Given the description of an element on the screen output the (x, y) to click on. 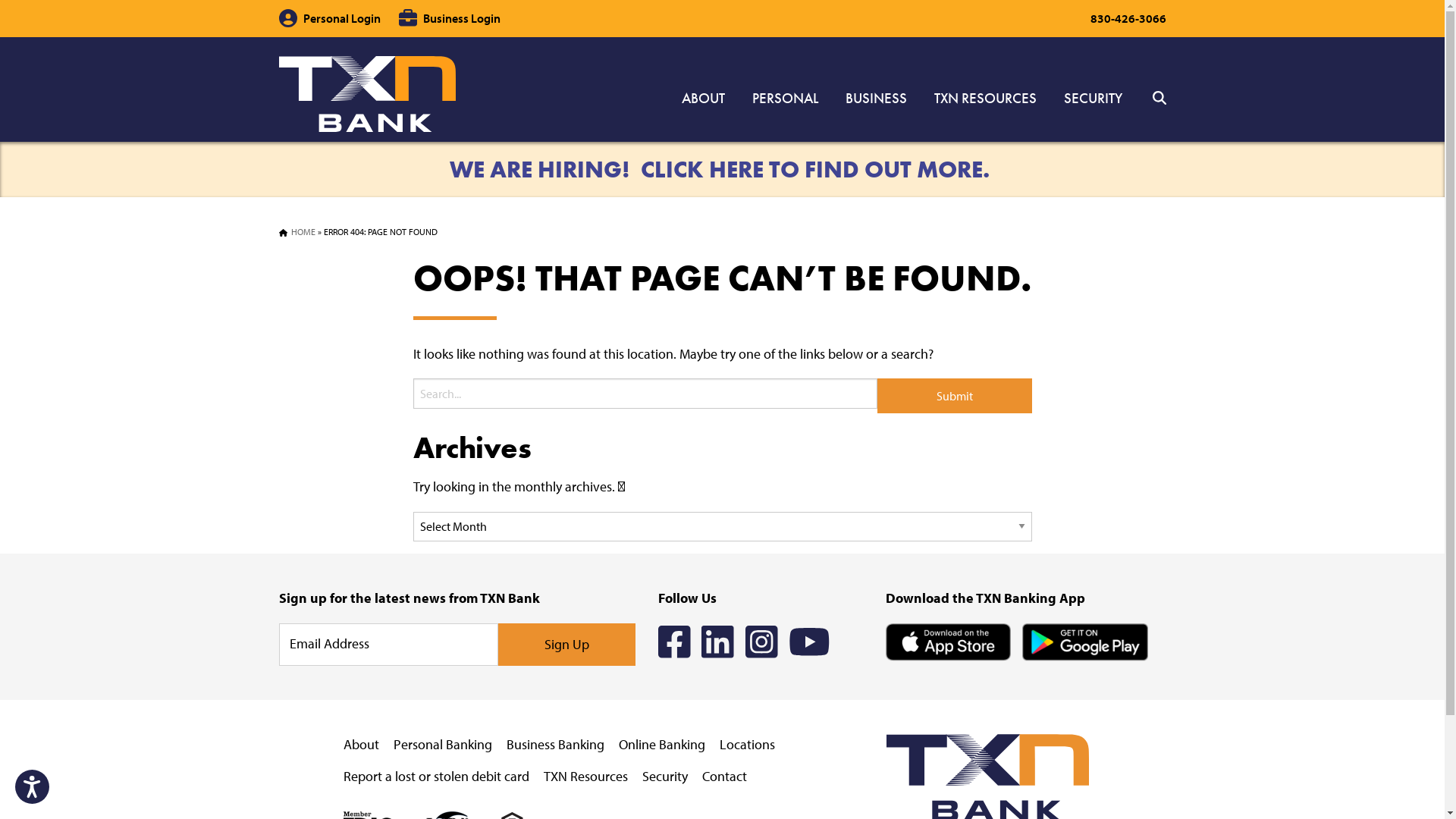
Locations Element type: text (746, 744)
WE ARE HIRING!  CLICK HERE TO FIND OUT MORE.  Element type: text (721, 169)
HOME Element type: text (303, 231)
Report a lost or stolen debit card Element type: text (435, 775)
BUSINESS Element type: text (875, 98)
Submit Element type: text (953, 395)
PERSONAL Element type: text (784, 98)
Sign Up Element type: text (565, 644)
ABOUT Element type: text (702, 98)
Skip to content Element type: text (0, 0)
Business Banking Element type: text (555, 744)
SECURITY Element type: text (1085, 98)
Contact Element type: text (724, 775)
About Element type: text (360, 744)
Site Search Element type: text (1145, 93)
TXN RESOURCES Element type: text (985, 98)
Business Login Element type: text (449, 17)
Security Element type: text (664, 775)
TXN Resources Element type: text (584, 775)
830-426-3066 Element type: text (1128, 17)
Personal Banking Element type: text (441, 744)
Online Banking Element type: text (661, 744)
Personal Login Element type: text (329, 17)
